Given the description of an element on the screen output the (x, y) to click on. 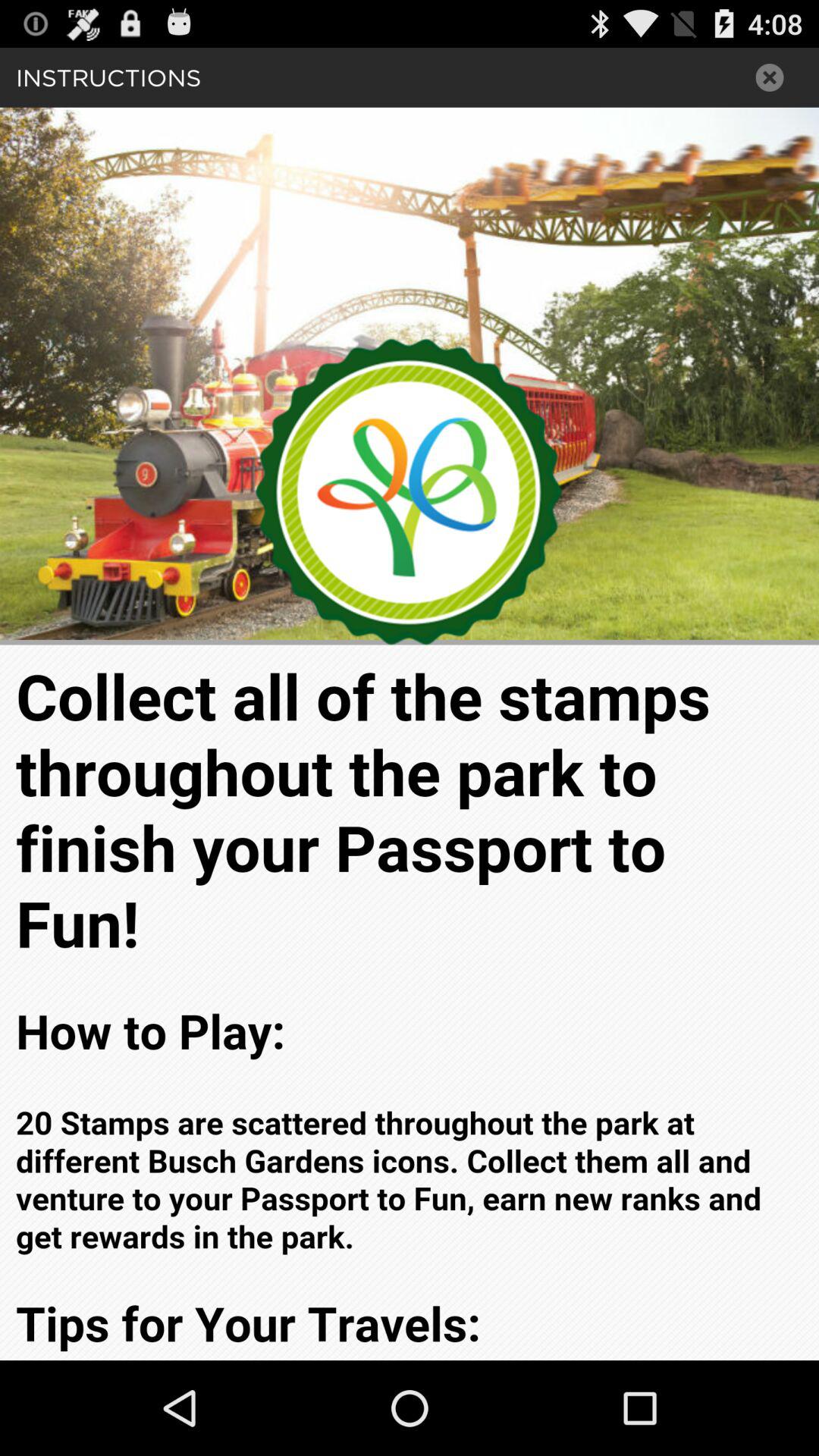
close (770, 77)
